Given the description of an element on the screen output the (x, y) to click on. 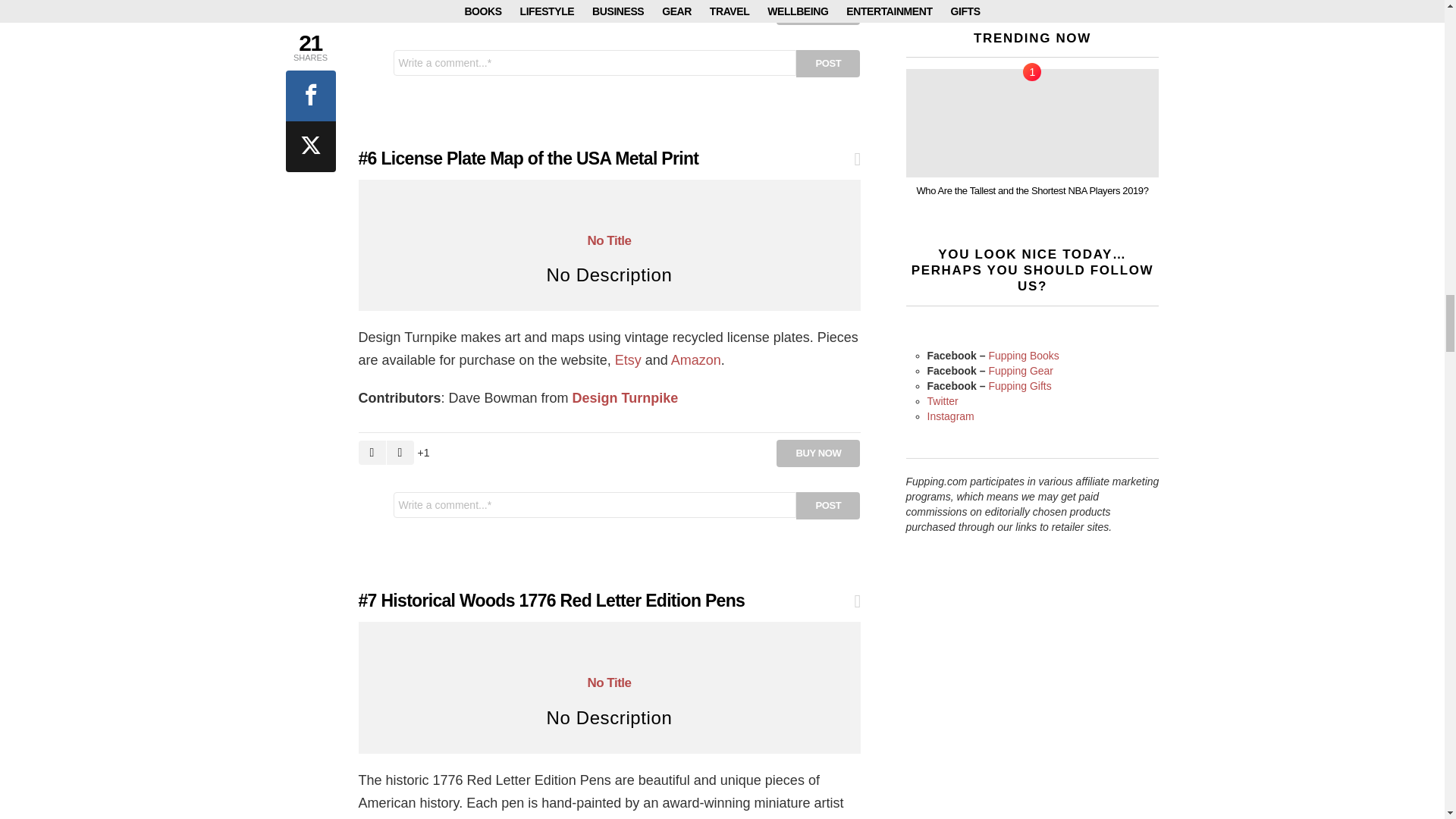
Post (828, 505)
Post (828, 62)
